Given the description of an element on the screen output the (x, y) to click on. 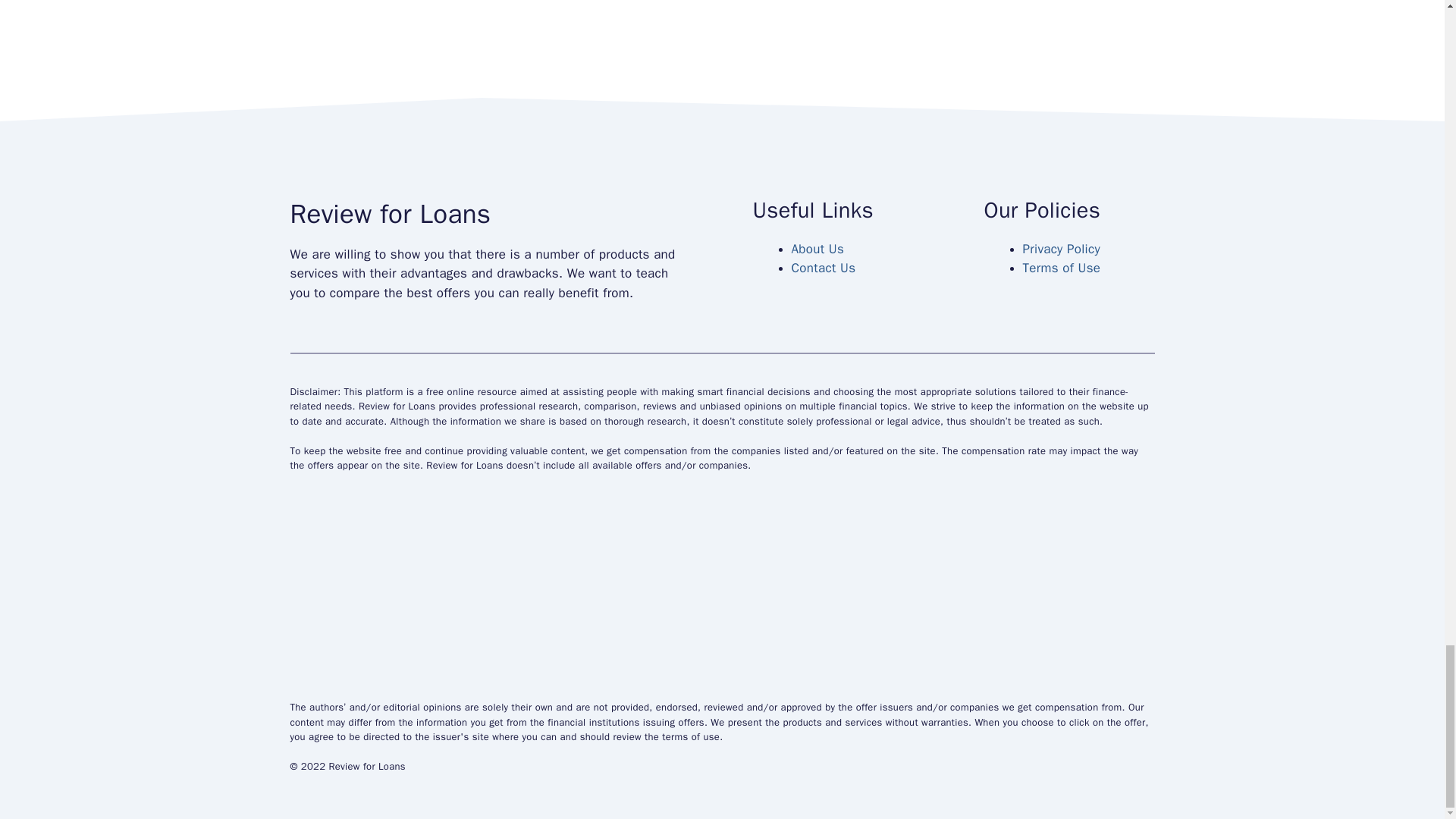
About Us (818, 248)
Terms of Use (1061, 268)
Contact Us (824, 268)
Privacy Policy (1060, 248)
